Given the description of an element on the screen output the (x, y) to click on. 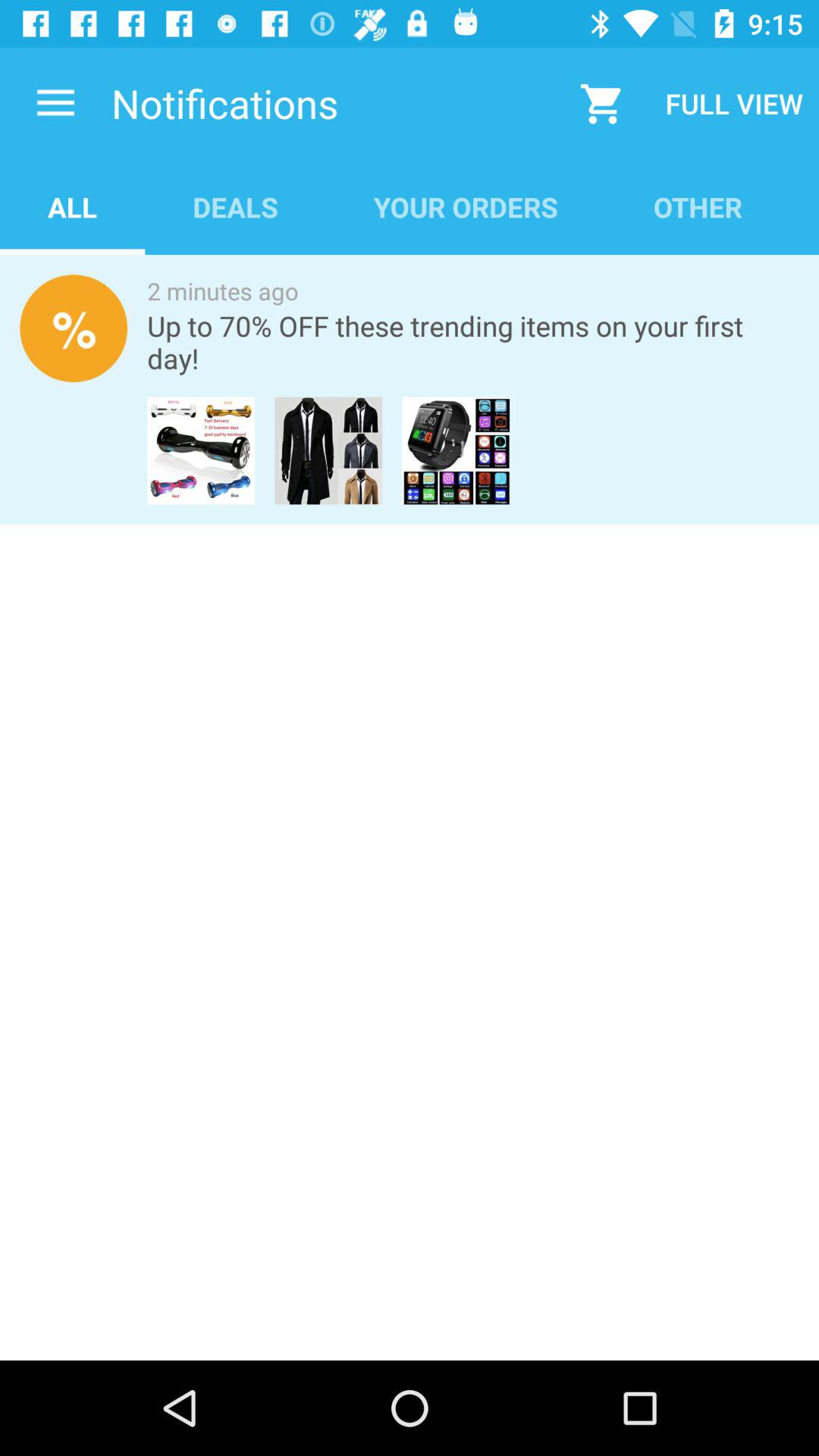
press other app (697, 206)
